Given the description of an element on the screen output the (x, y) to click on. 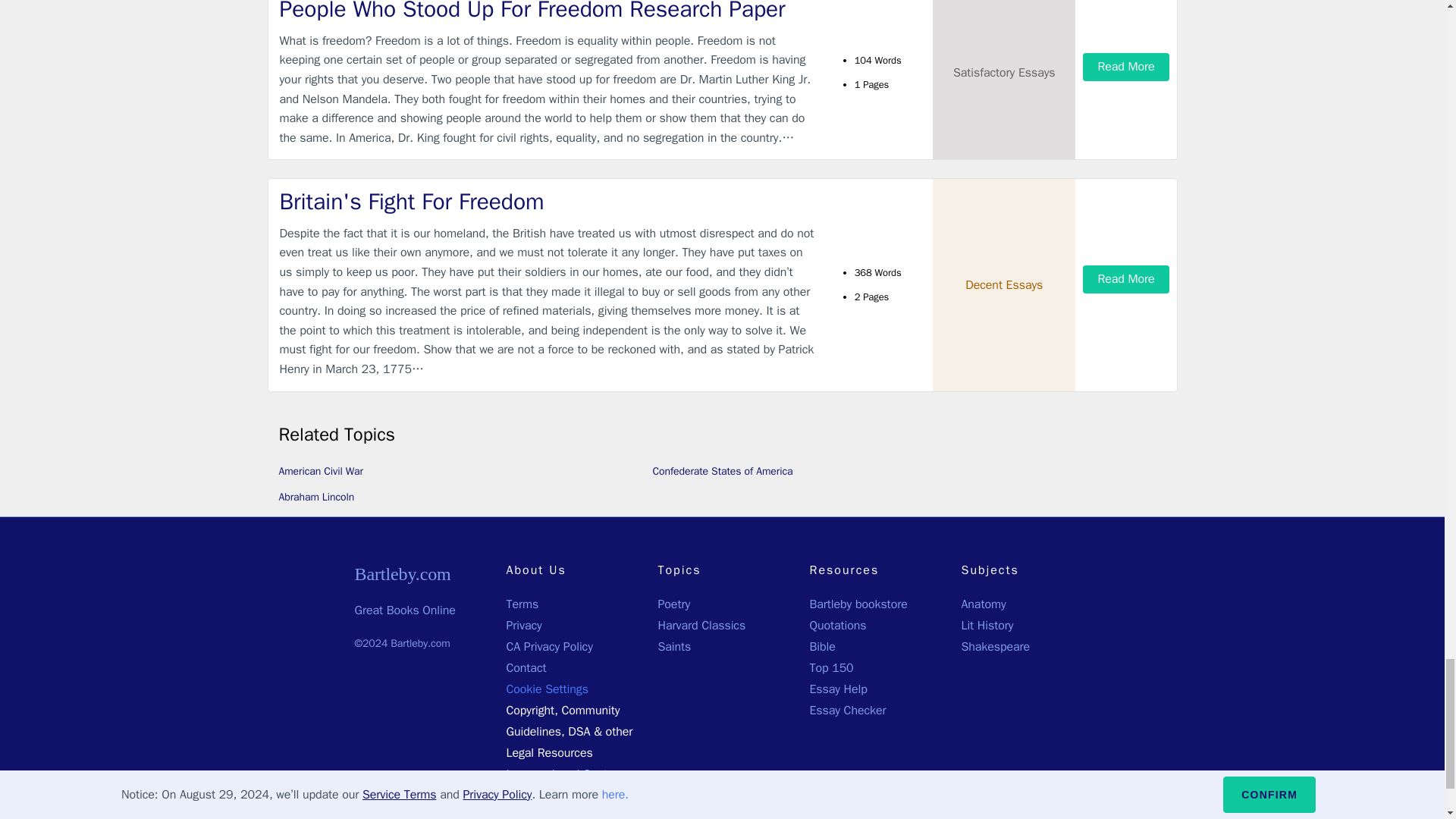
American Civil War (320, 470)
Abraham Lincoln (317, 495)
Confederate States of America (722, 470)
